Given the description of an element on the screen output the (x, y) to click on. 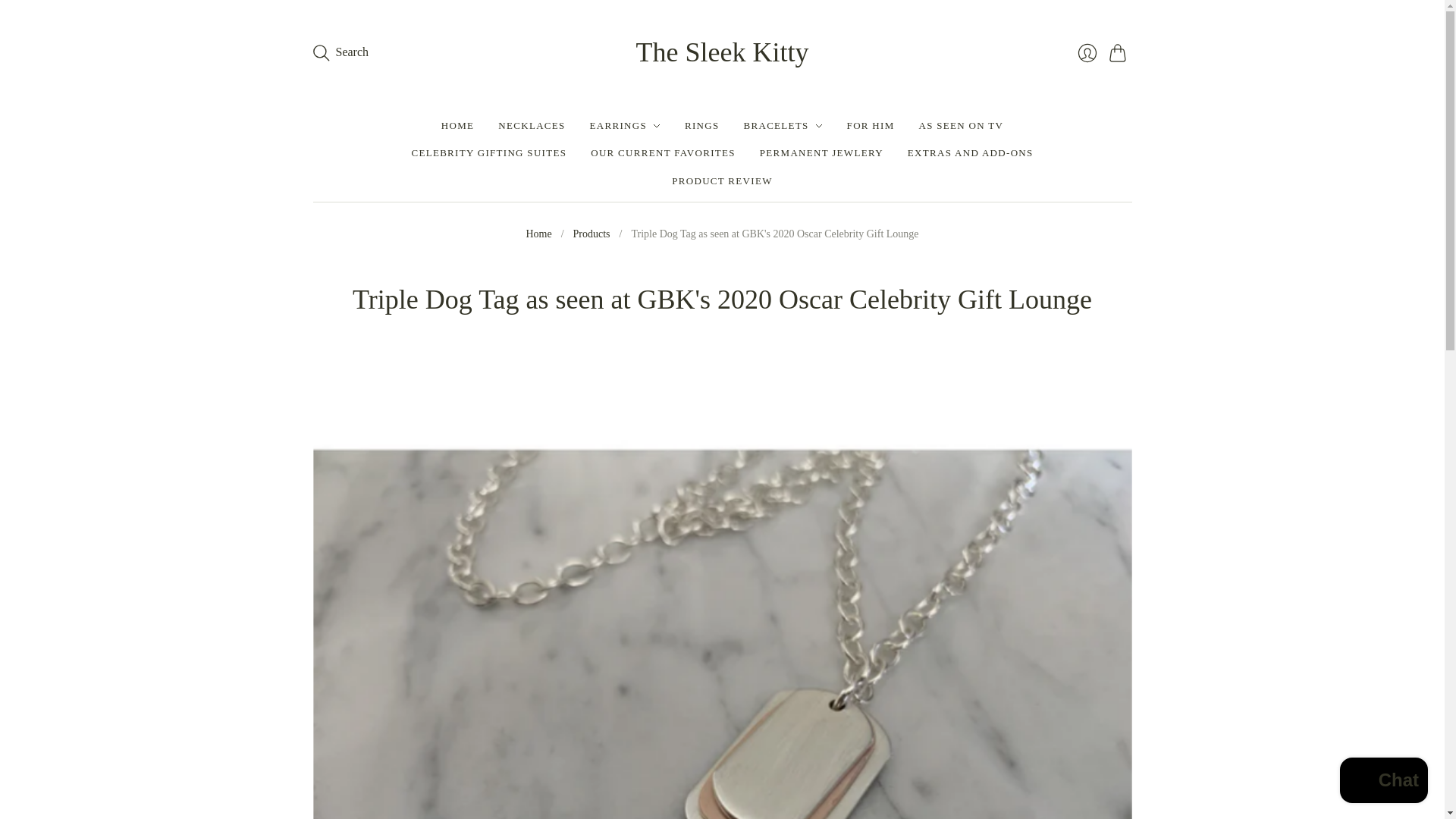
Search (339, 51)
AS SEEN ON TV (961, 125)
CELEBRITY GIFTING SUITES (488, 153)
Cart (1119, 52)
NECKLACES (530, 125)
Shopify online store chat (1383, 781)
RINGS (701, 125)
FOR HIM (871, 125)
Login (1086, 51)
PRODUCT REVIEW (721, 180)
